Given the description of an element on the screen output the (x, y) to click on. 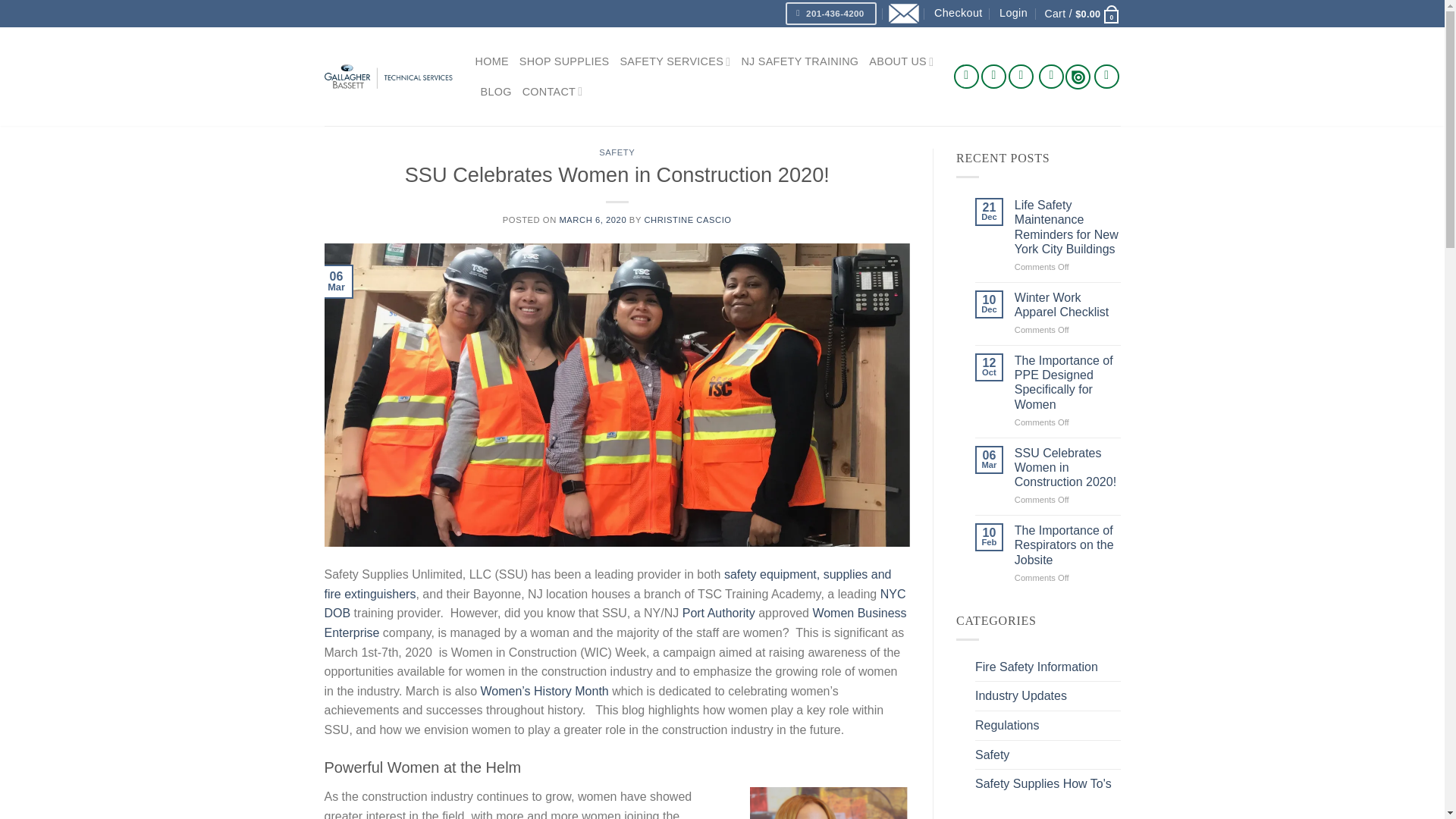
Safety Supplies Unlimited - Safety Is No Accident (388, 76)
HOME (491, 61)
Follow on Facebook (965, 76)
Follow on Issuu (1077, 75)
CONTACT (552, 91)
201-436-4200 (831, 13)
Subscribe on Youtube (1106, 76)
Follow on Instagram (993, 76)
BLOG (496, 91)
Checkout (958, 12)
NJ SAFETY TRAINING (800, 61)
Join our mailing list (903, 13)
Follow on LinkedIn (1051, 76)
ABOUT US (901, 61)
Login (1012, 12)
